Given the description of an element on the screen output the (x, y) to click on. 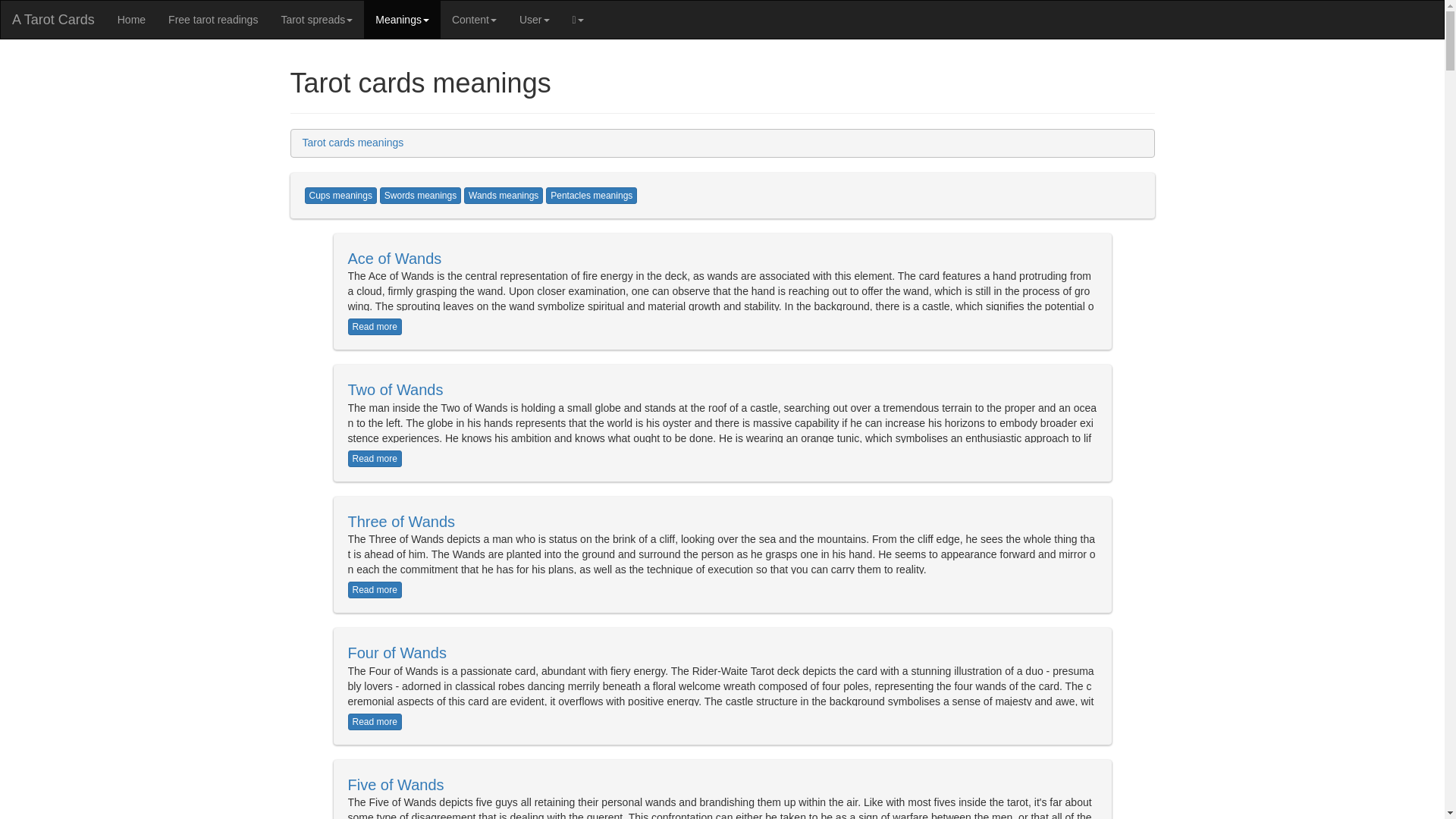
Three of Wands meanings (400, 521)
Content (474, 19)
Tarot Swords meanings (420, 195)
Three of Wands taro card meaning (374, 589)
User (534, 19)
Four of Wands taro card meaning (374, 721)
Ace of Wands meanings (394, 258)
Ace of Wands taro card meaning (374, 326)
Tarot Cups meanings (340, 195)
Four of Wands meanings (396, 652)
Tarot Wands meanings (503, 195)
Free tarot readings (213, 19)
A Tarot Cards (131, 19)
Tarot Pentacles meanings (591, 195)
A Tarot Cards (53, 19)
